Given the description of an element on the screen output the (x, y) to click on. 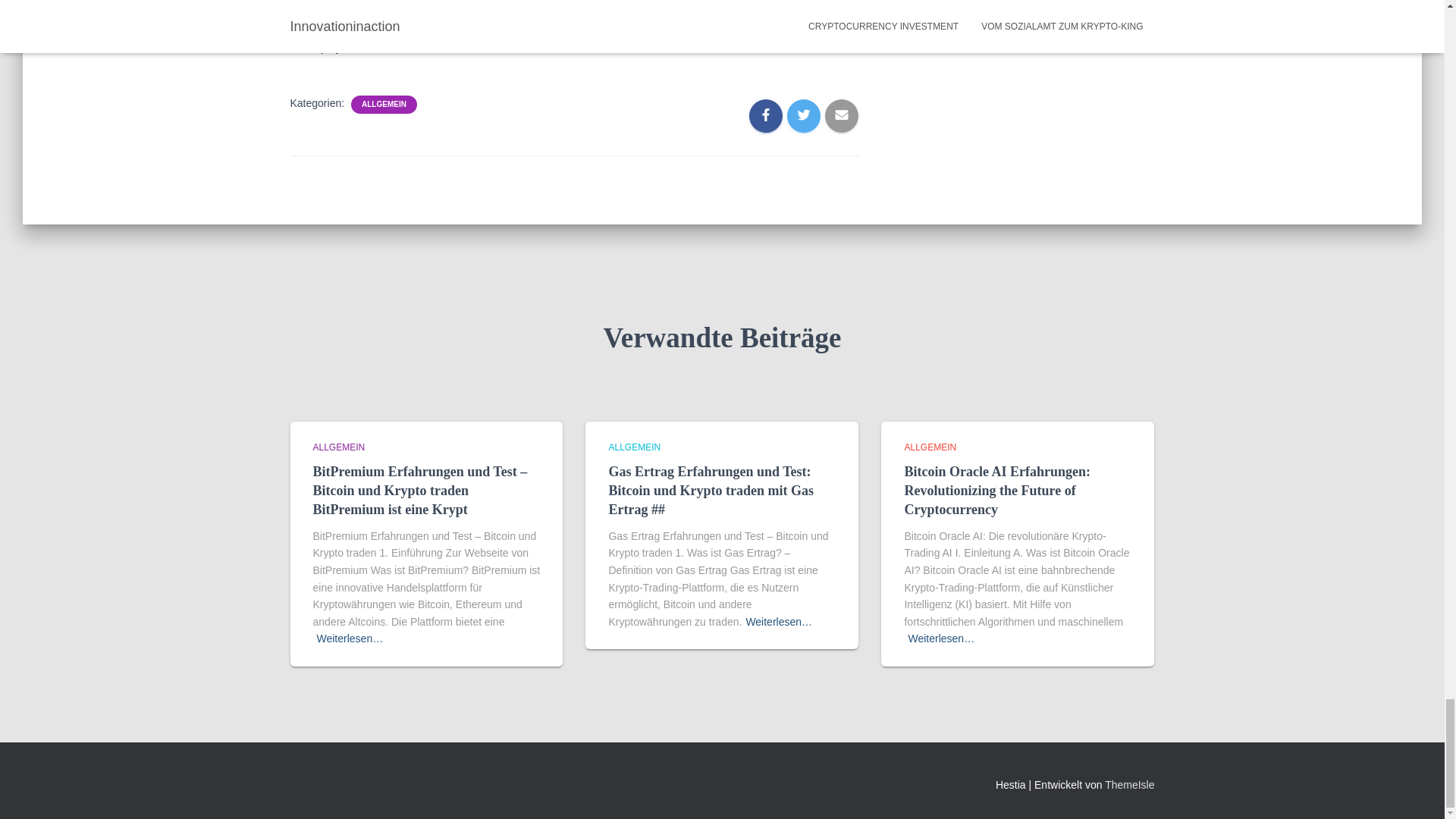
ALLGEMEIN (383, 104)
